Given the description of an element on the screen output the (x, y) to click on. 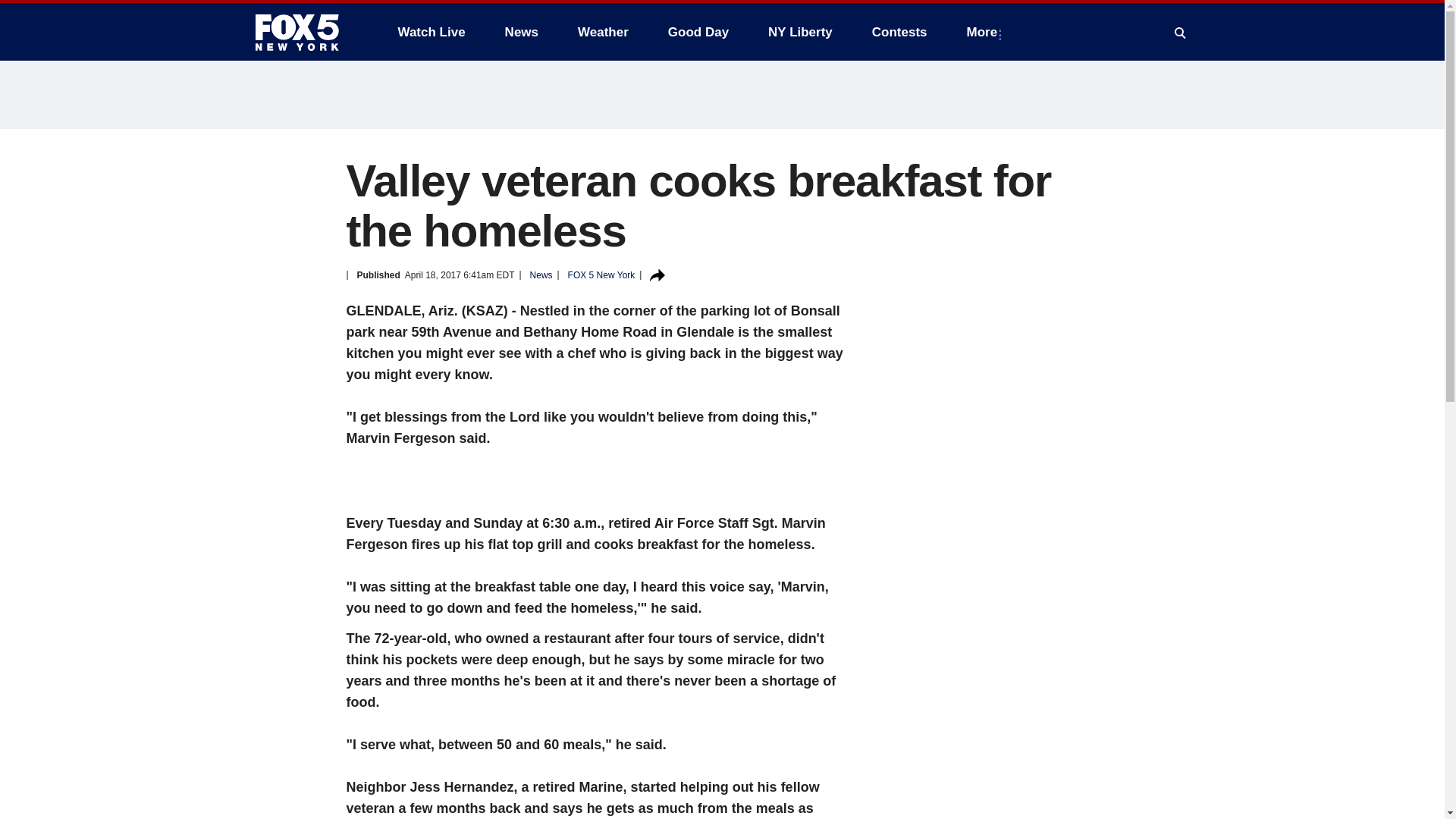
More (985, 32)
Good Day (698, 32)
Watch Live (431, 32)
Weather (603, 32)
Contests (899, 32)
NY Liberty (799, 32)
News (521, 32)
